Given the description of an element on the screen output the (x, y) to click on. 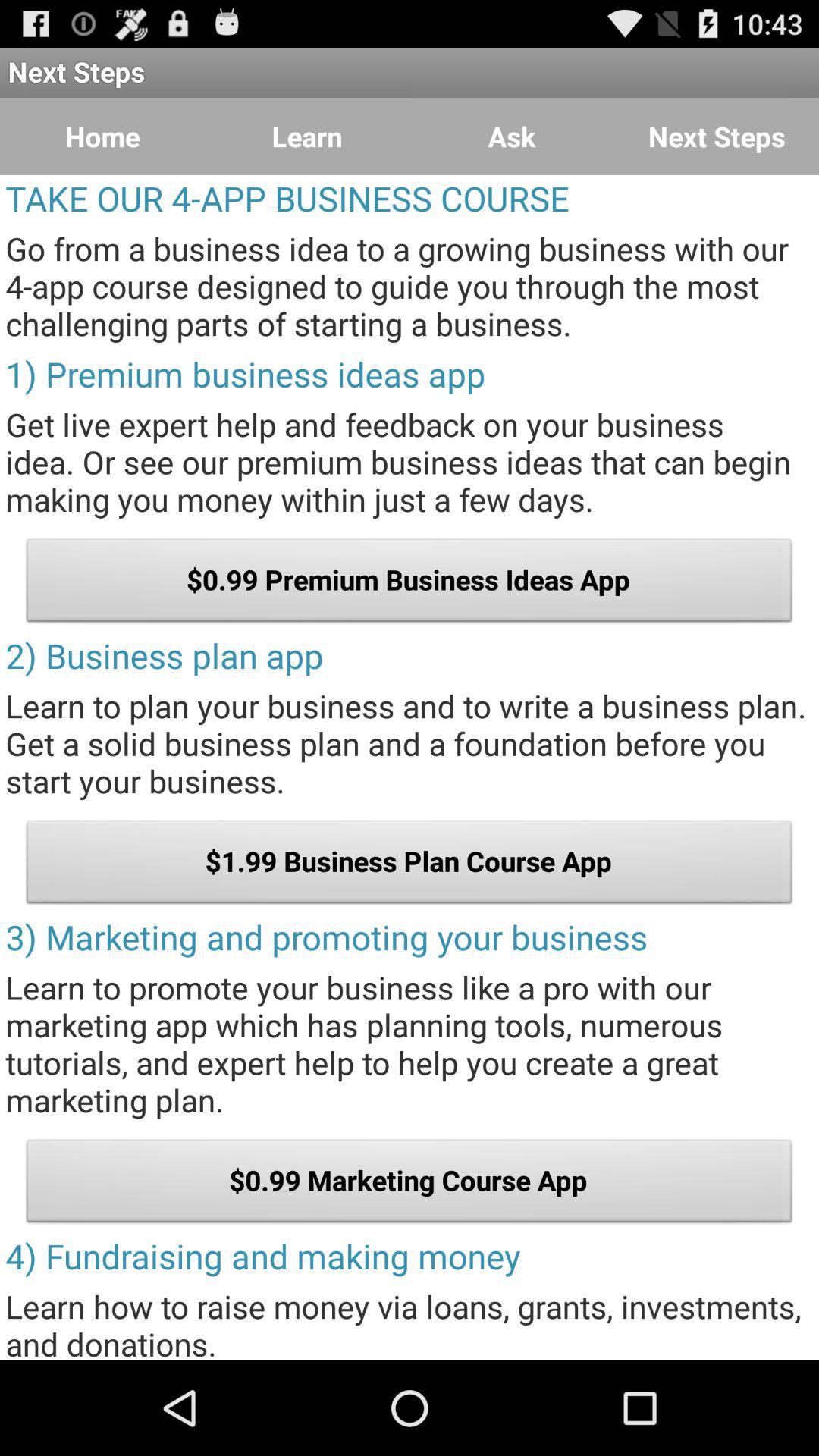
turn off the icon next to the learn item (102, 136)
